Given the description of an element on the screen output the (x, y) to click on. 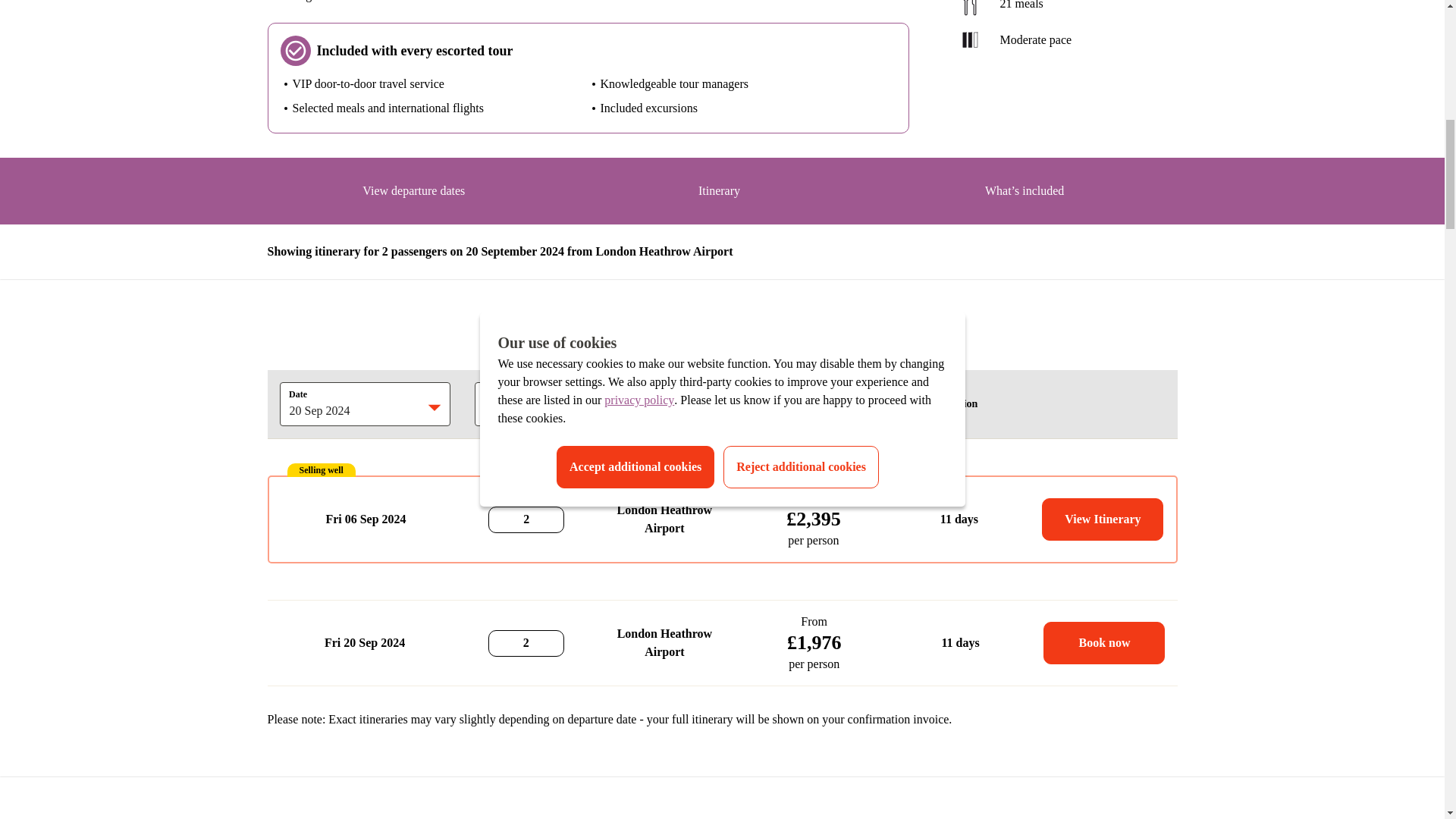
View Itinerary (1102, 518)
Book now (1103, 642)
20 Sep 2024 (347, 404)
Itinerary (718, 196)
View departure dates (413, 196)
2 (506, 404)
